Given the description of an element on the screen output the (x, y) to click on. 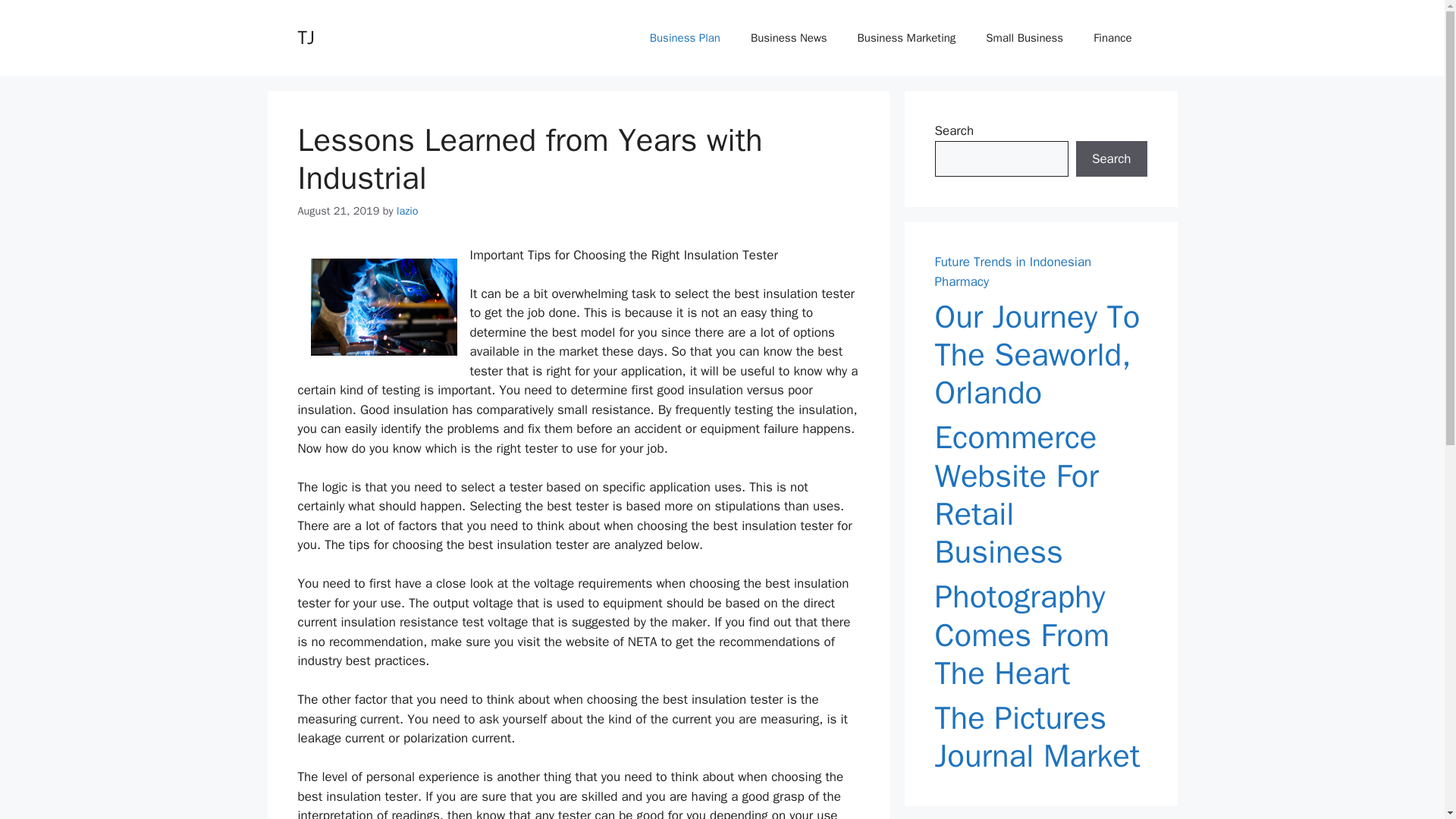
Business News (789, 37)
Finance (1112, 37)
Ecommerce Website For Retail Business (1040, 494)
Business Marketing (907, 37)
lazio (407, 210)
The Pictures Journal Market (1040, 737)
Business Plan (684, 37)
Photography Comes From The Heart (1040, 635)
Small Business (1024, 37)
Search (1111, 158)
Our Journey To The Seaworld, Orlando (1040, 354)
Future Trends in Indonesian Pharmacy (1012, 271)
View all posts by lazio (407, 210)
